Given the description of an element on the screen output the (x, y) to click on. 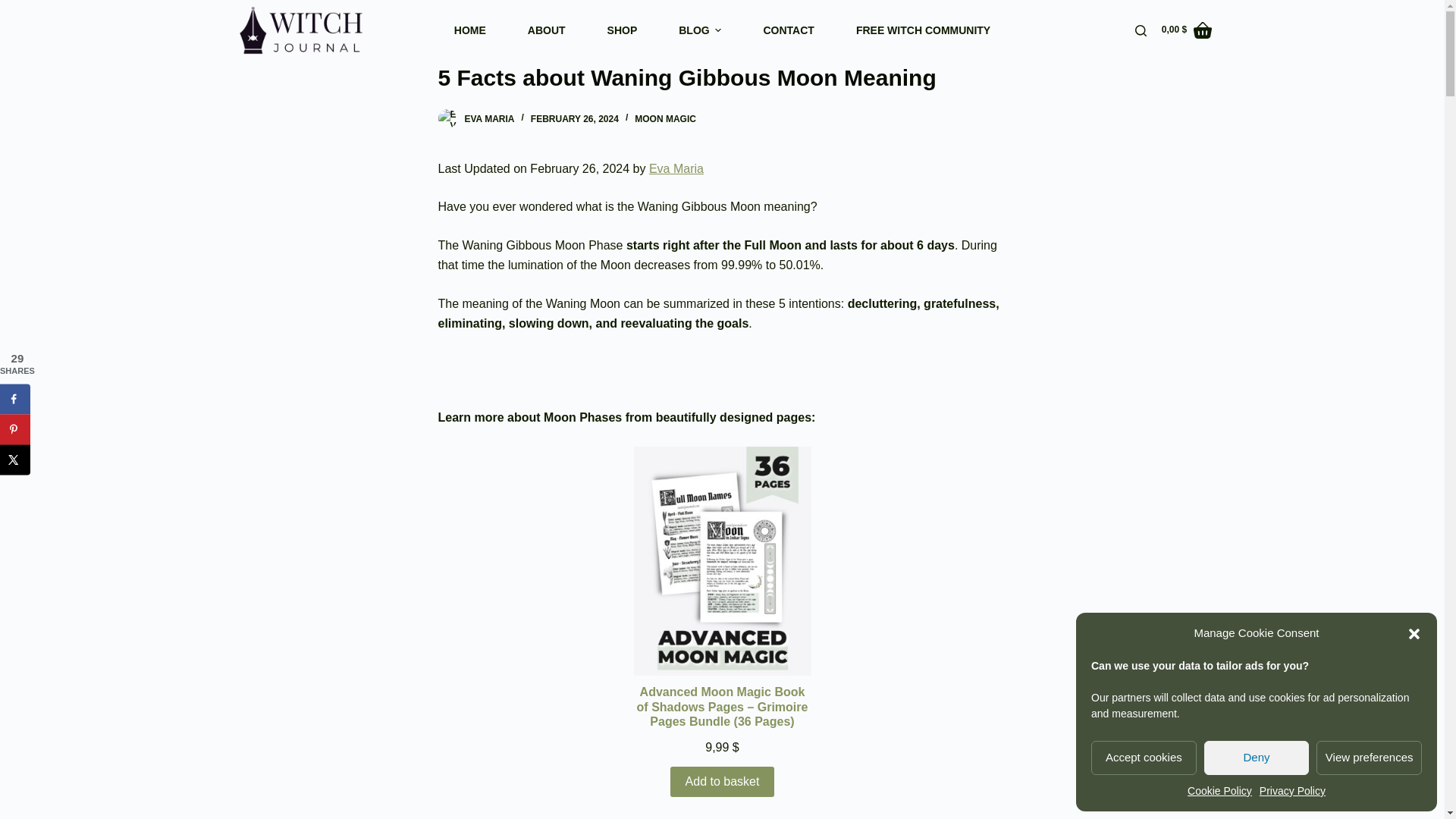
5 Facts about Waning Gibbous Moon Meaning (722, 77)
Posts by Eva Maria (488, 118)
Privacy Policy (1291, 791)
Cookie Policy (1220, 791)
ABOUT (546, 30)
Skip to content (15, 7)
Deny (1256, 757)
Share on X (15, 459)
Save to Pinterest (15, 429)
SHOP (622, 30)
